Given the description of an element on the screen output the (x, y) to click on. 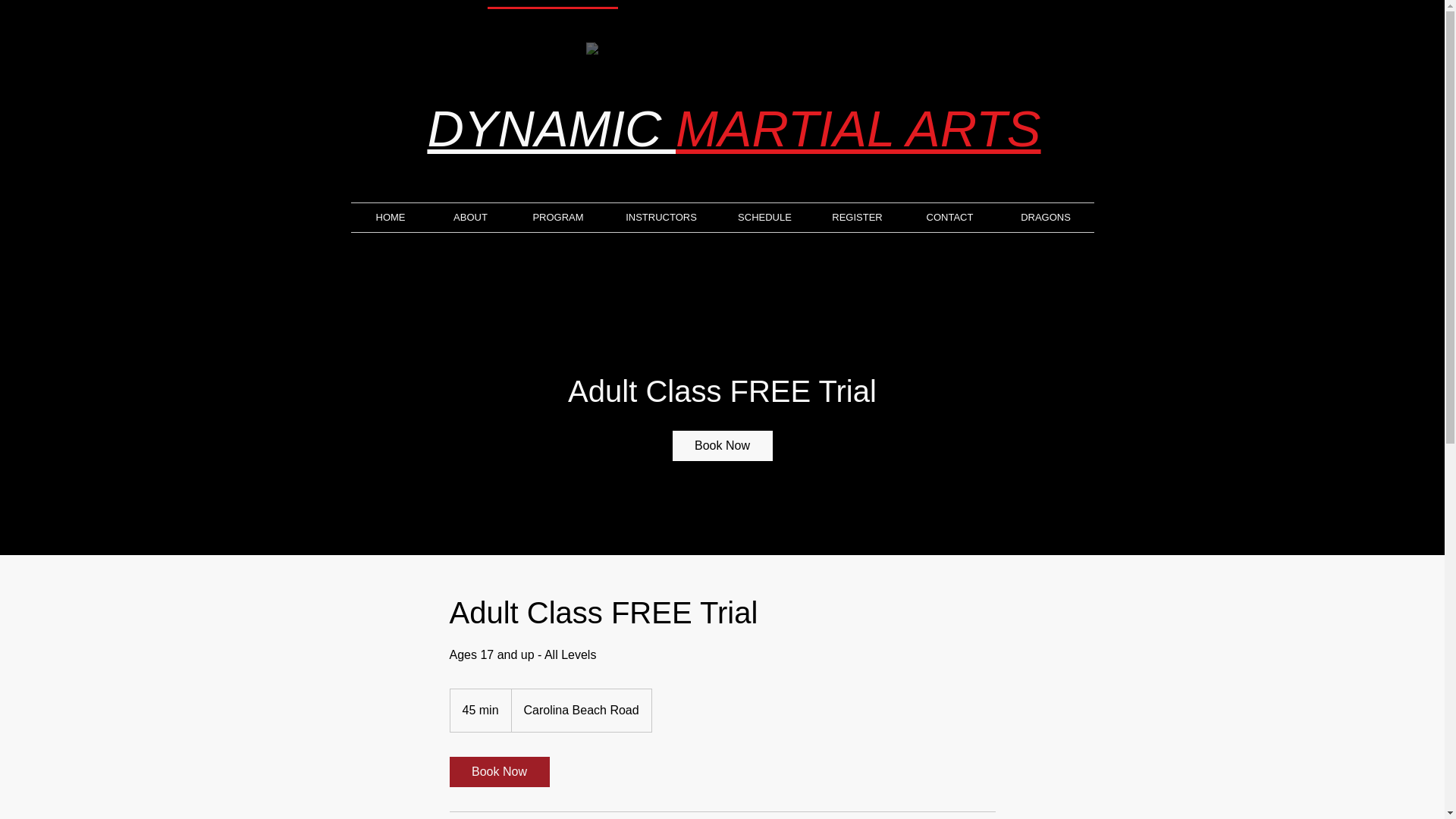
REGISTER (857, 217)
INSTRUCTORS (660, 217)
PROGRAM (558, 217)
HOME (389, 217)
DYNAMIC MARTIAL ARTS (733, 128)
CONTACT (949, 217)
ABOUT (470, 217)
SCHEDULE (764, 217)
Book Now (721, 445)
Book Now (498, 771)
DRAGONS (1045, 217)
